Given the description of an element on the screen output the (x, y) to click on. 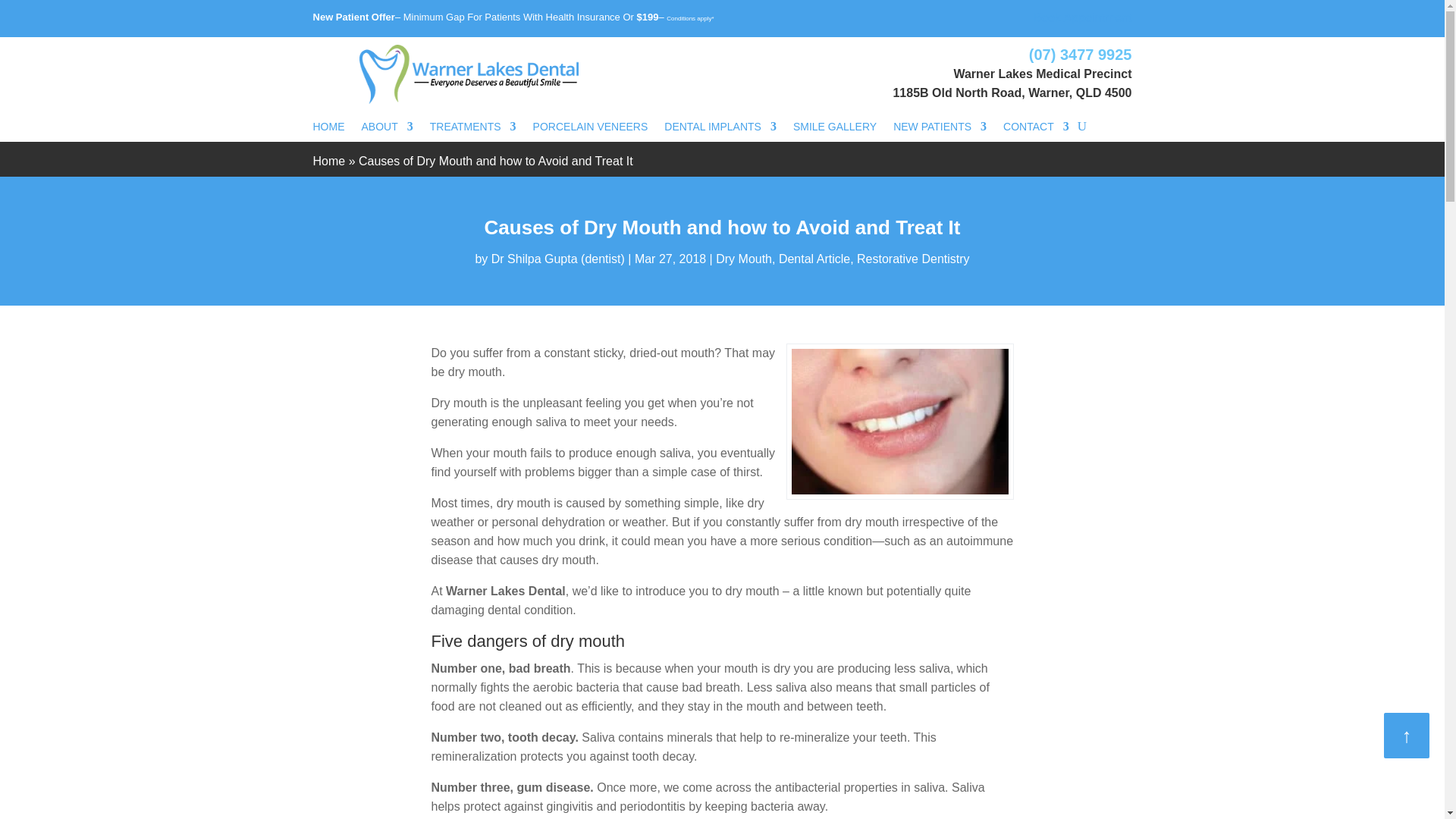
TREATMENTS (472, 129)
ABOUT (386, 129)
HOME (328, 129)
Book Appointment (1082, 17)
Warner Lake Dental Logo (468, 74)
